Given the description of an element on the screen output the (x, y) to click on. 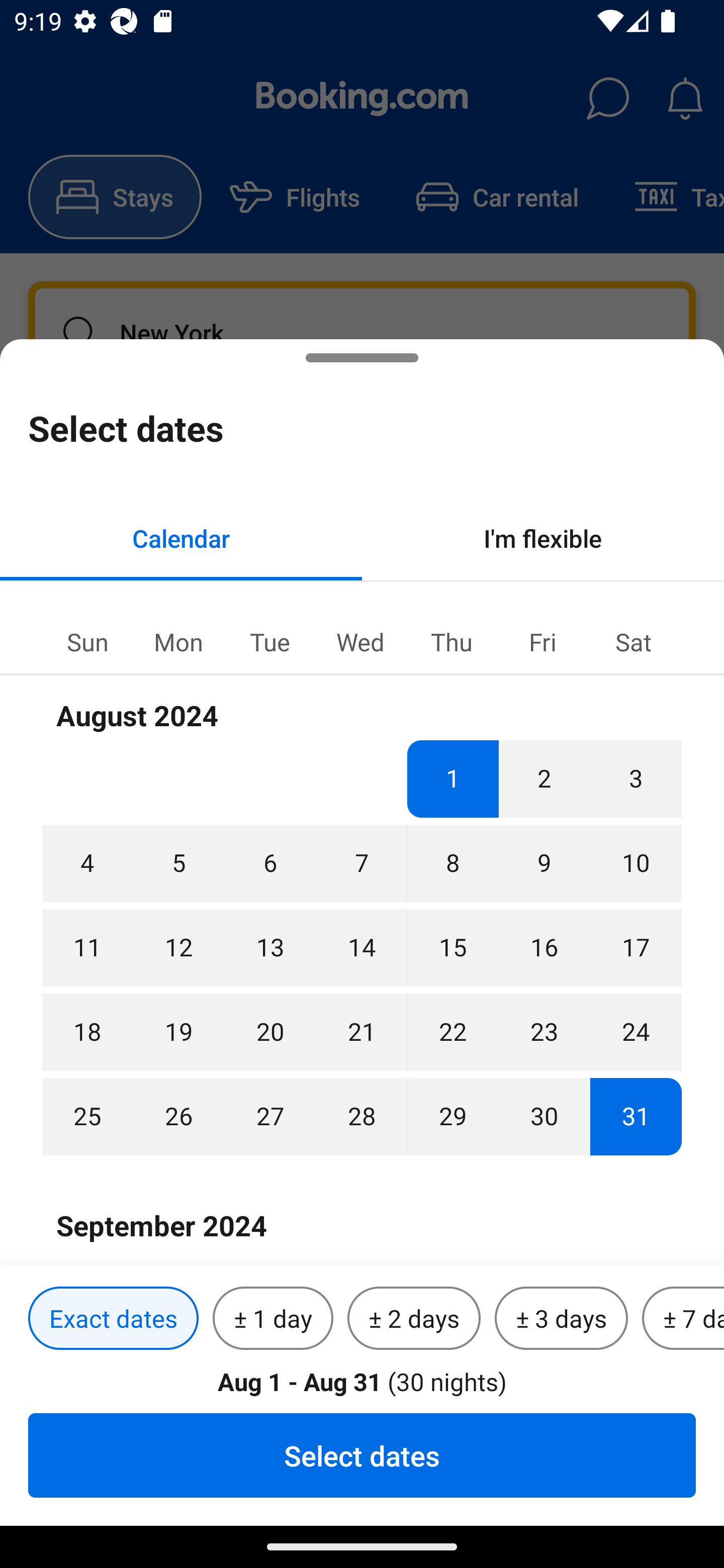
I'm flexible (543, 537)
Exact dates (113, 1318)
± 1 day (272, 1318)
± 2 days (413, 1318)
± 3 days (560, 1318)
± 7 days (683, 1318)
Select dates (361, 1454)
